Given the description of an element on the screen output the (x, y) to click on. 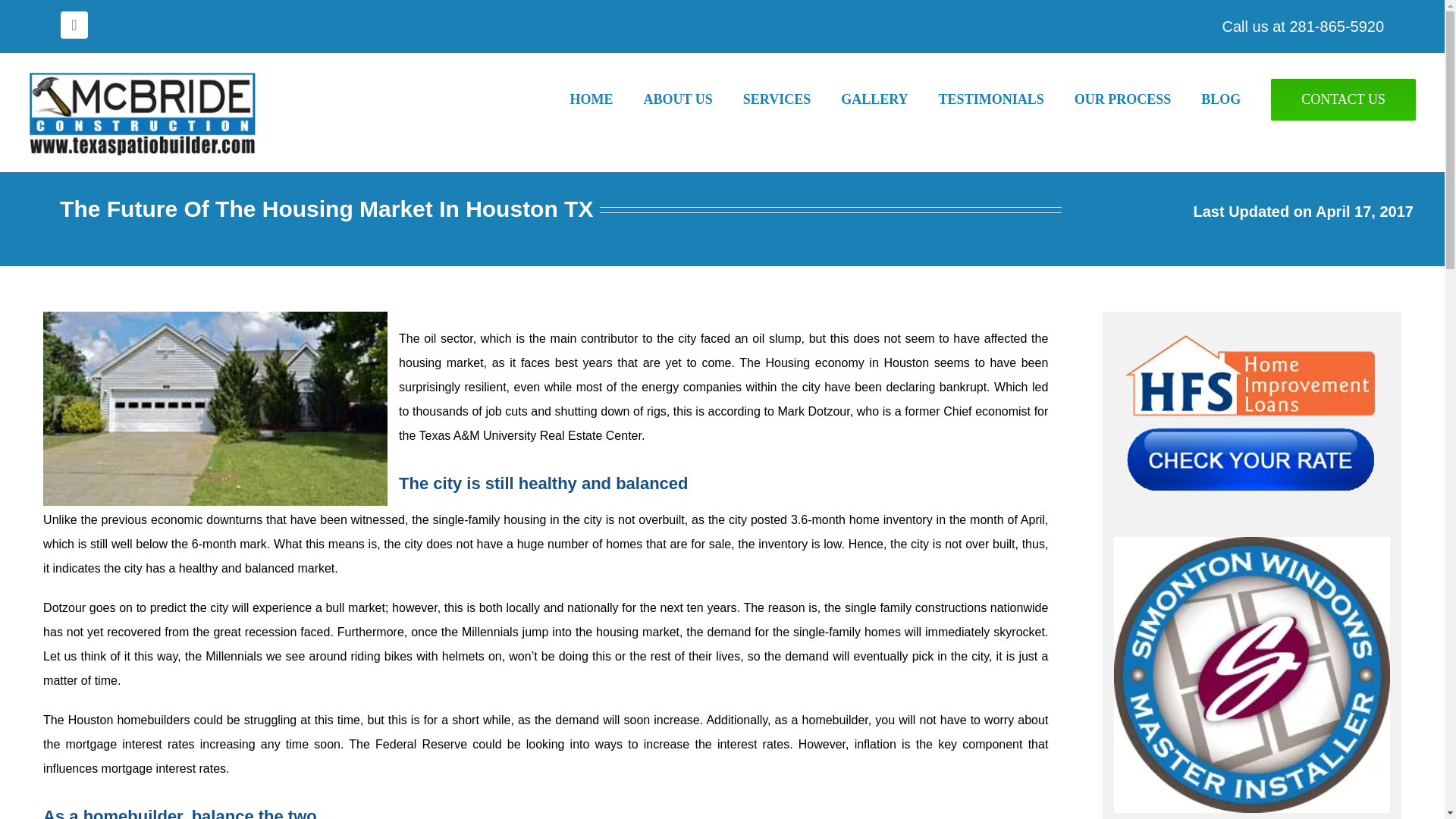
281-865-5920 (1336, 26)
GALLERY (889, 99)
TESTIMONIALS (1006, 99)
ABOUT US (692, 99)
SERVICES (791, 99)
BLOG (1236, 99)
HOME (606, 99)
Facebook (74, 24)
OUR PROCESS (1138, 99)
CONTACT US (1343, 99)
